Given the description of an element on the screen output the (x, y) to click on. 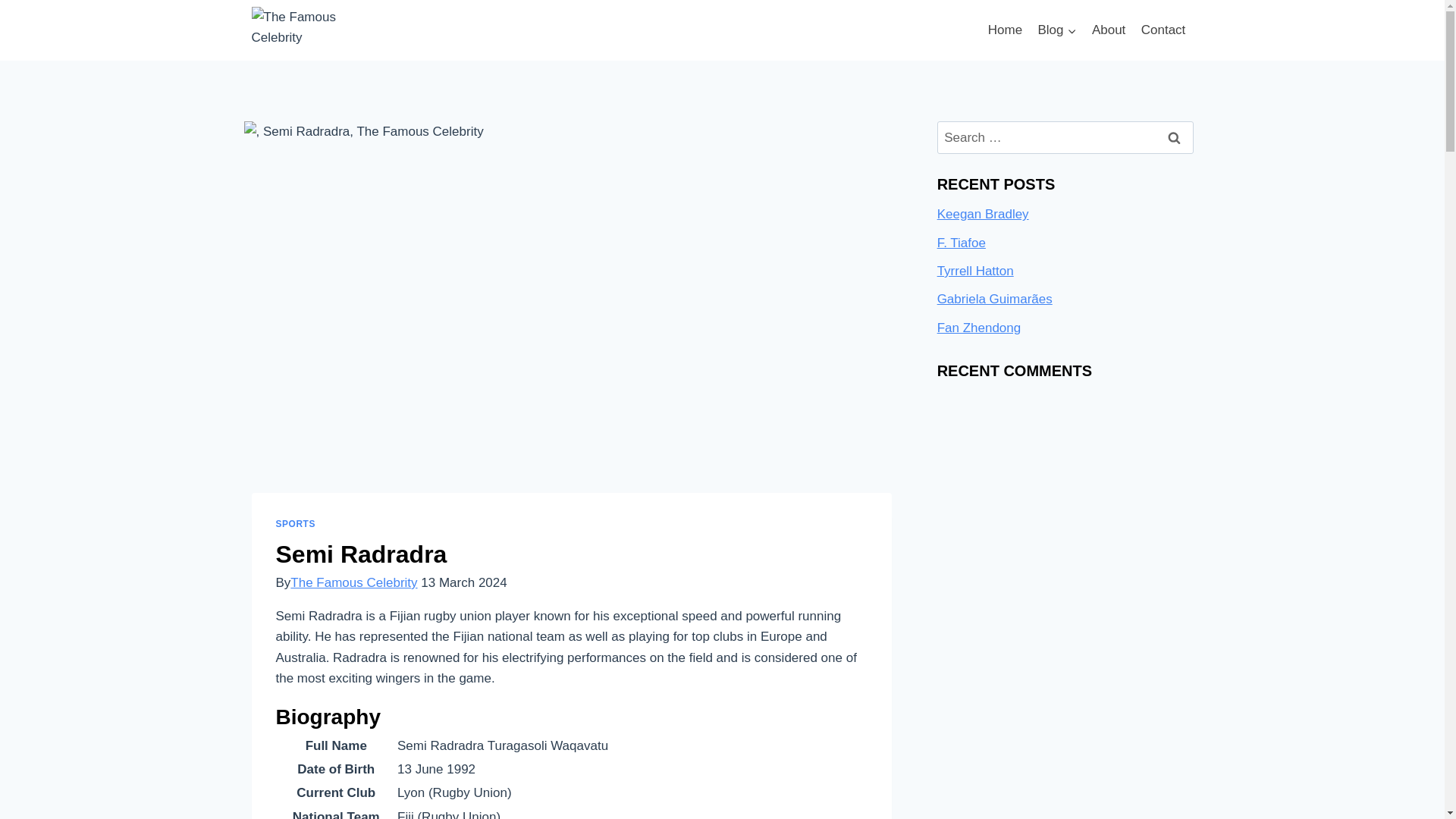
Search (1174, 137)
Search (1174, 137)
Blog (1056, 30)
About (1109, 30)
Contact (1163, 30)
SPORTS (295, 523)
The Famous Celebrity (352, 582)
Home (1004, 30)
